Given the description of an element on the screen output the (x, y) to click on. 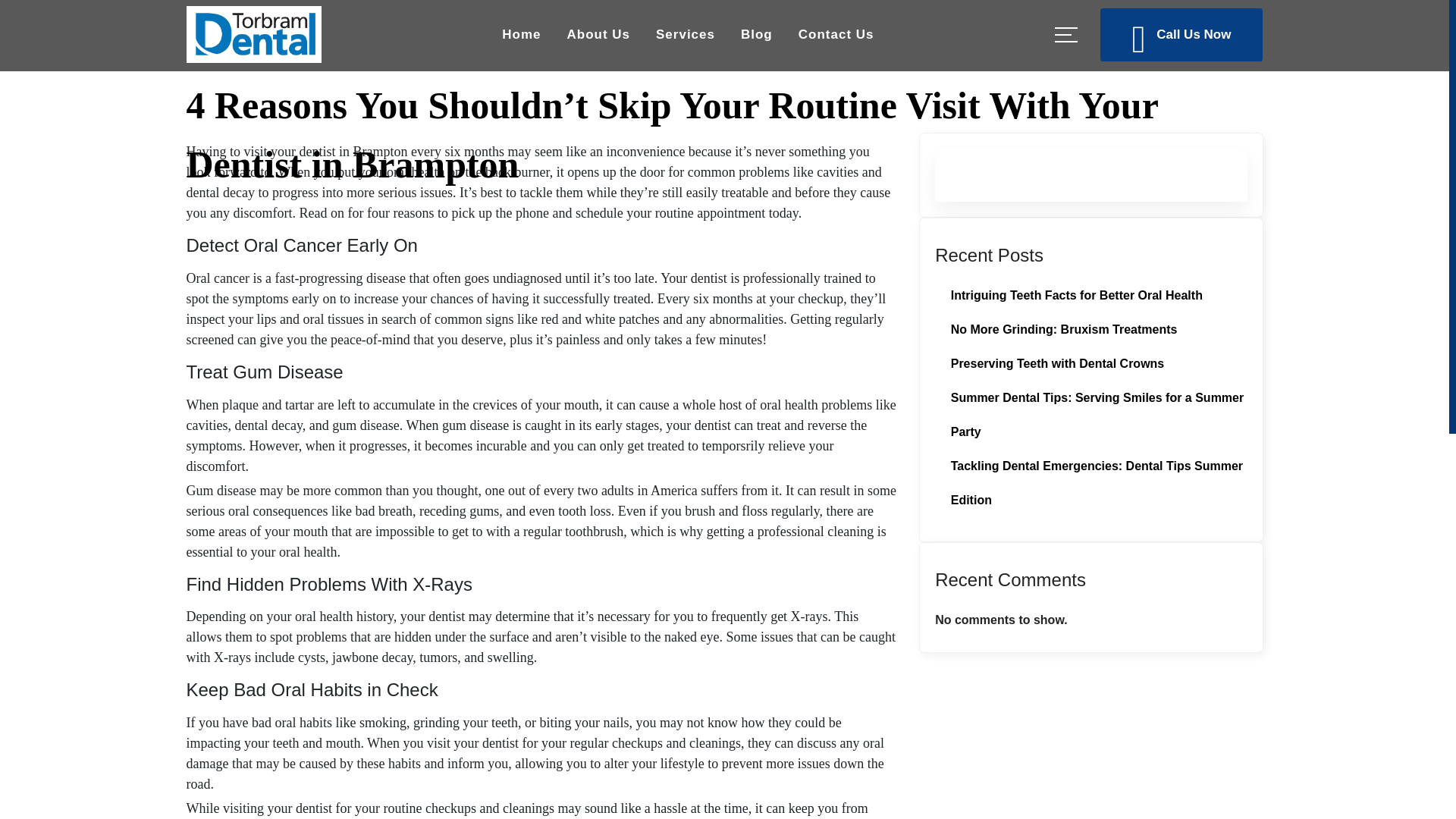
Services (684, 34)
No More Grinding: Bruxism Treatments (1063, 328)
Home (520, 34)
Contact Us (836, 34)
Blog (756, 34)
About Us (598, 34)
   Call Us Now (1181, 33)
Intriguing Teeth Facts for Better Oral Health (1076, 295)
